Given the description of an element on the screen output the (x, y) to click on. 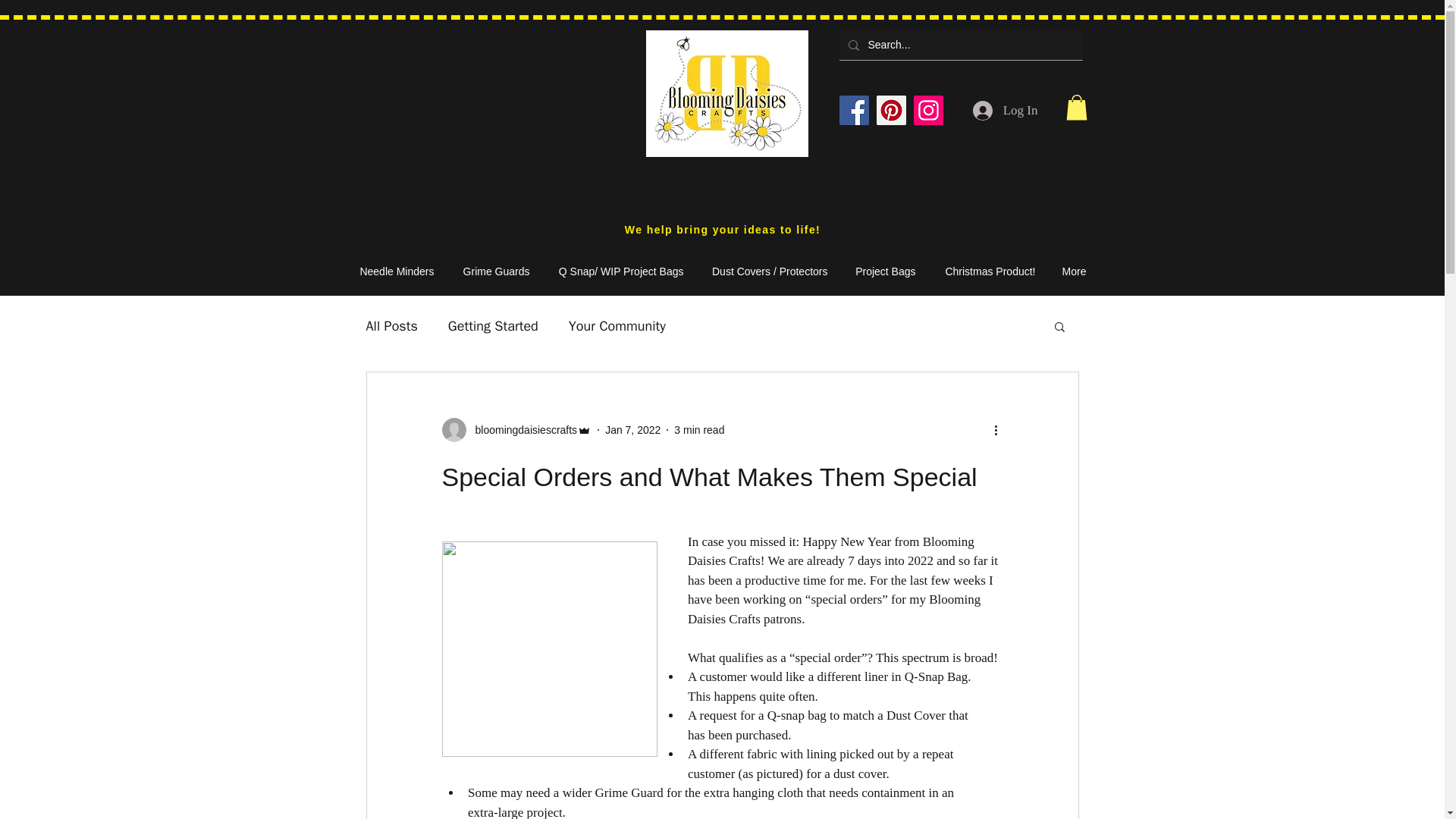
Jan 7, 2022 (633, 428)
Your Community (617, 325)
Getting Started (493, 325)
All Posts (390, 325)
Log In (1005, 109)
3 min read (698, 428)
Christmas Product! (983, 271)
Project Bags (879, 271)
bloomingdaisiescrafts (516, 429)
bloomingdaisiescrafts (520, 429)
Grime Guards (489, 271)
